Given the description of an element on the screen output the (x, y) to click on. 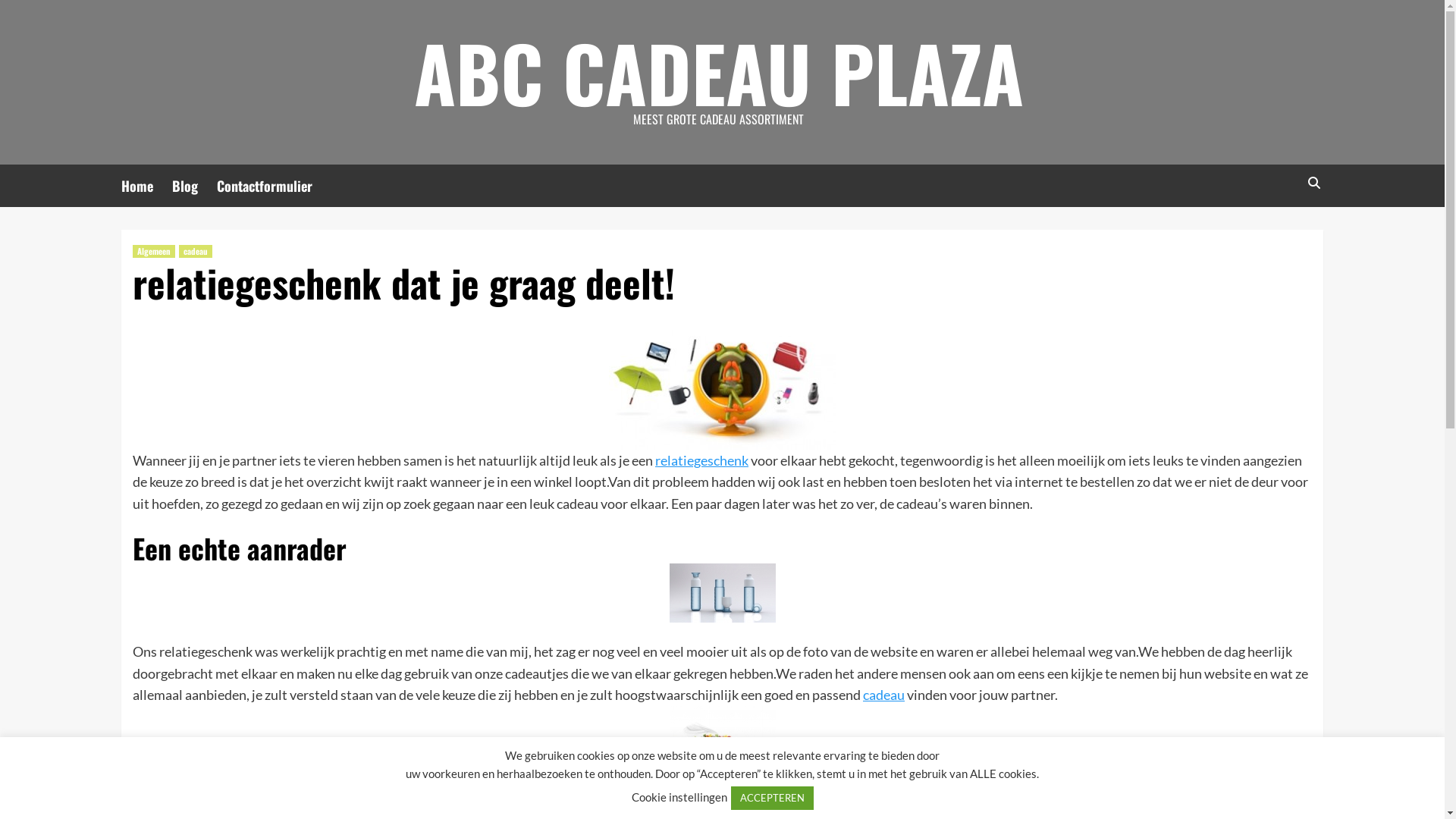
Contactformulier Element type: text (273, 185)
Algemeen Element type: text (153, 250)
ACCEPTEREN Element type: text (772, 797)
Zoeken Element type: text (1278, 230)
relatiegeschenk Element type: text (701, 459)
Cookie instellingen Element type: text (678, 796)
cadeau Element type: text (195, 250)
ABC CADEAU PLAZA Element type: text (718, 71)
Blog Element type: text (194, 185)
cadeau Element type: text (883, 694)
Home Element type: text (146, 185)
Search Element type: hover (1313, 182)
